Given the description of an element on the screen output the (x, y) to click on. 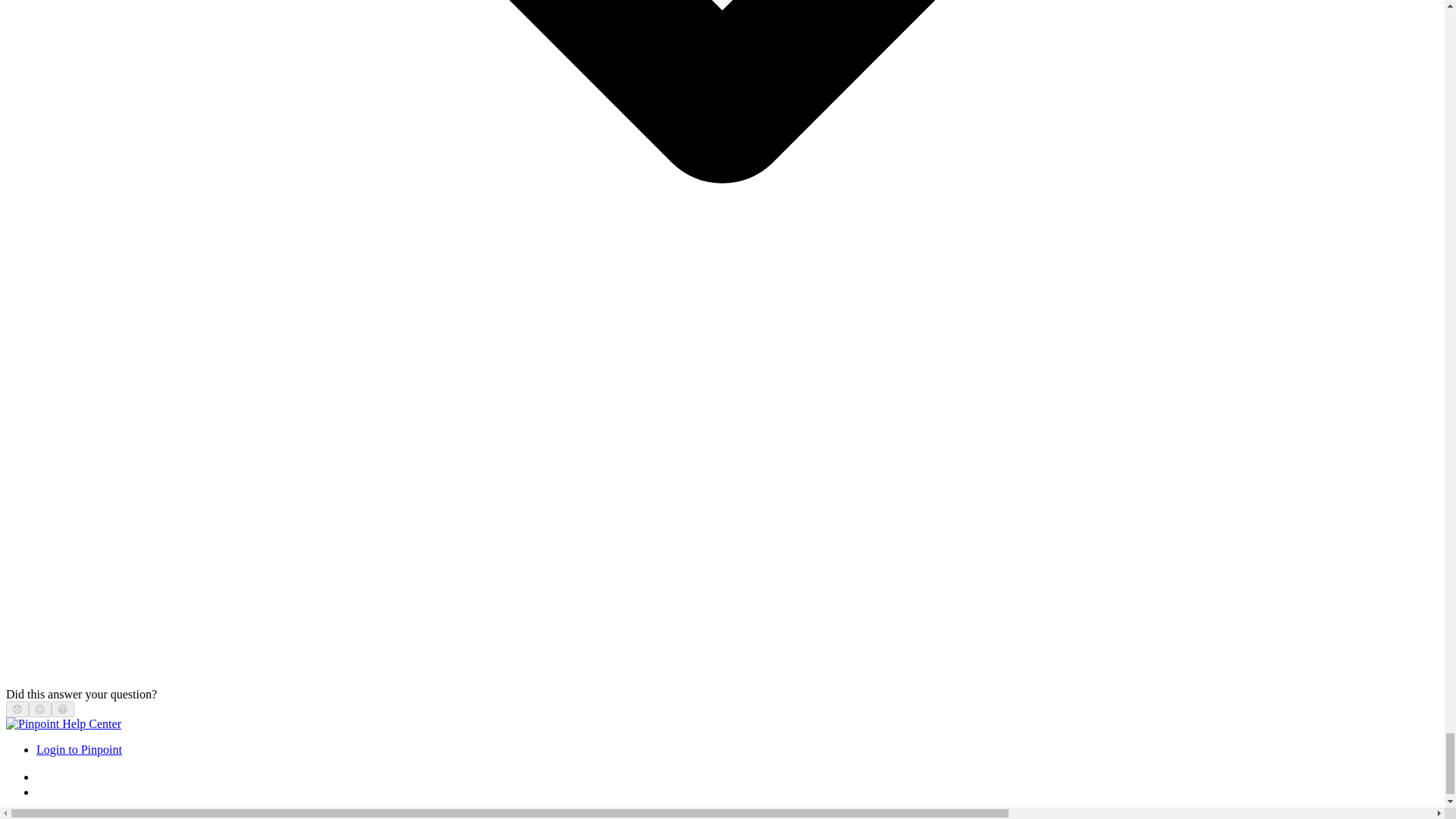
Neutral (39, 708)
Disappointed (17, 708)
Smiley (63, 708)
Login to Pinpoint (79, 748)
